Given the description of an element on the screen output the (x, y) to click on. 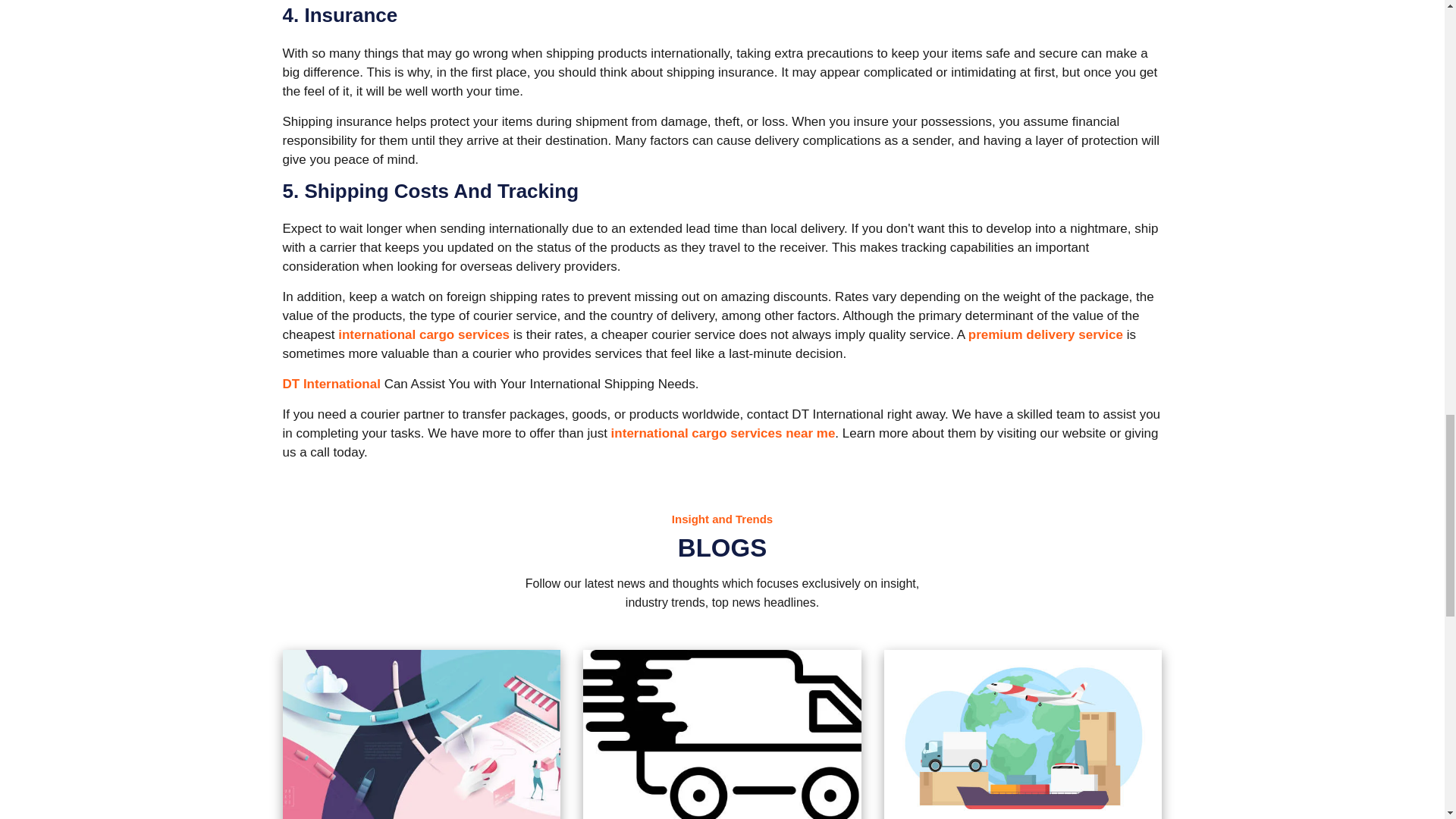
international cargo services near me (720, 432)
DT International (331, 383)
international cargo services (422, 334)
premium delivery service (1042, 334)
